Given the description of an element on the screen output the (x, y) to click on. 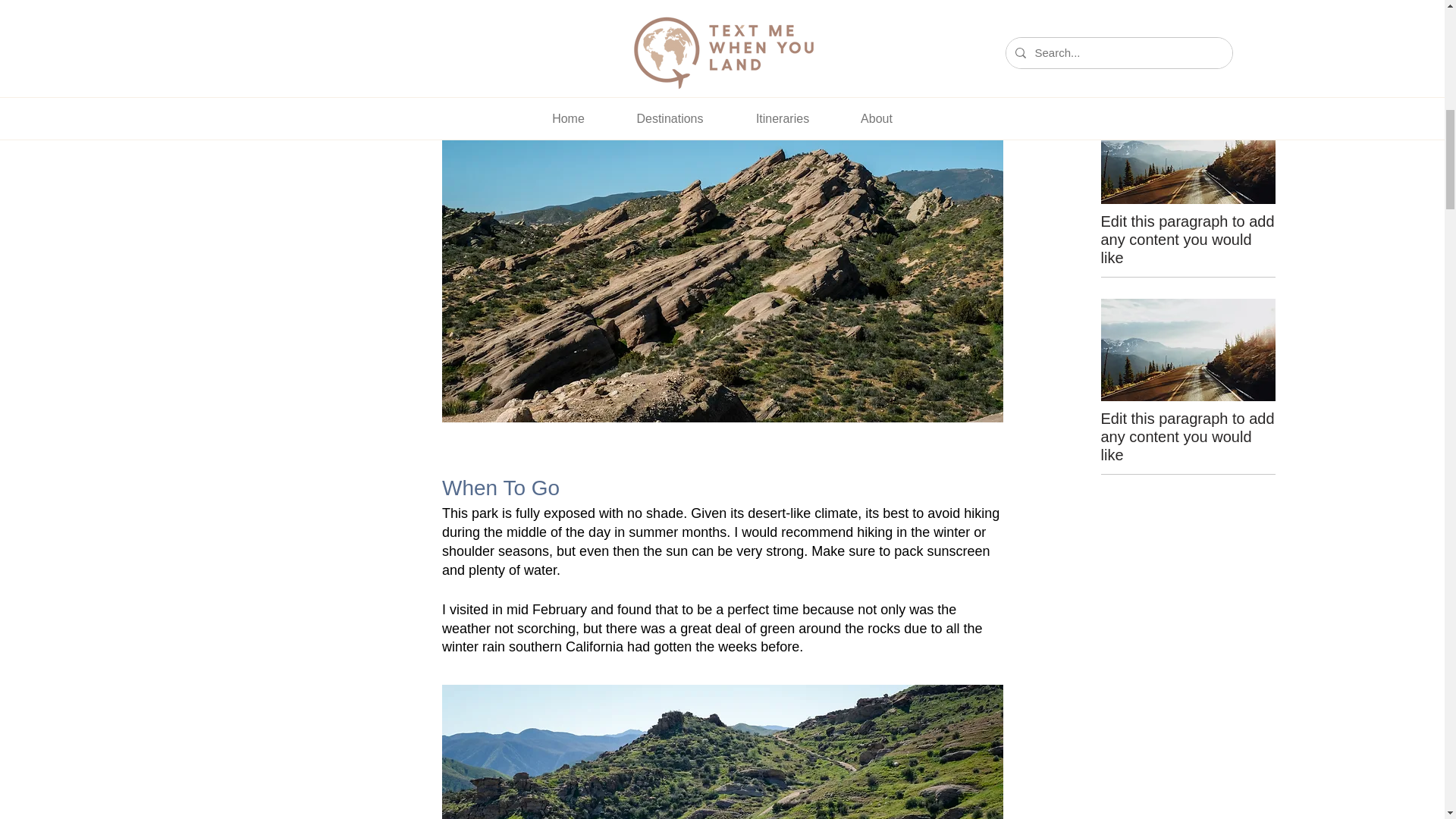
Countryside Road (1187, 349)
Countryside Road (1187, 3)
Countryside Road (1187, 152)
